Given the description of an element on the screen output the (x, y) to click on. 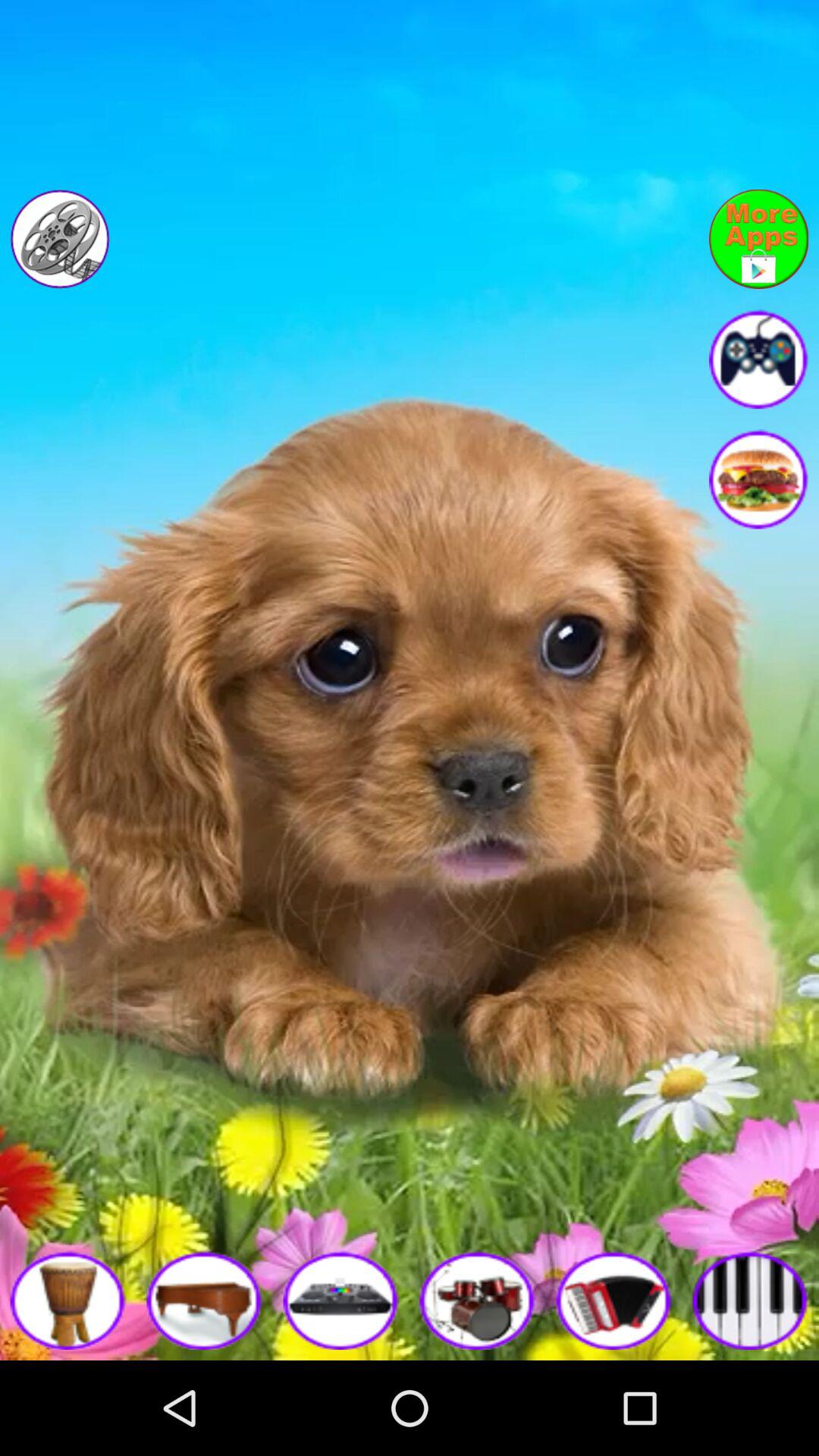
play a music (341, 1300)
